Given the description of an element on the screen output the (x, y) to click on. 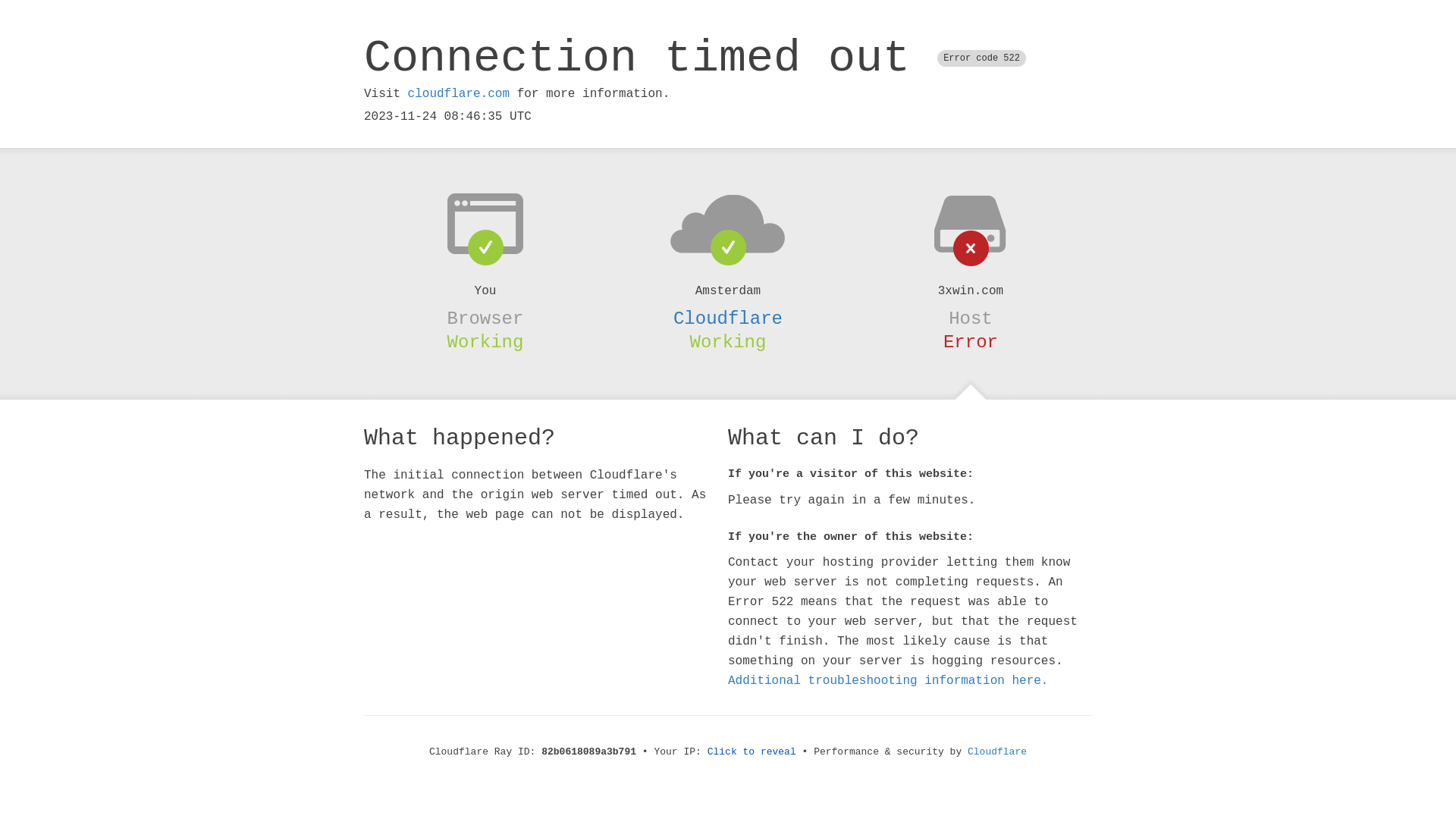
Cloudflare Element type: text (727, 318)
cloudflare.com Element type: text (458, 93)
Additional troubleshooting information here. Element type: text (888, 680)
Cloudflare Element type: text (996, 751)
Click to reveal Element type: text (751, 751)
